Given the description of an element on the screen output the (x, y) to click on. 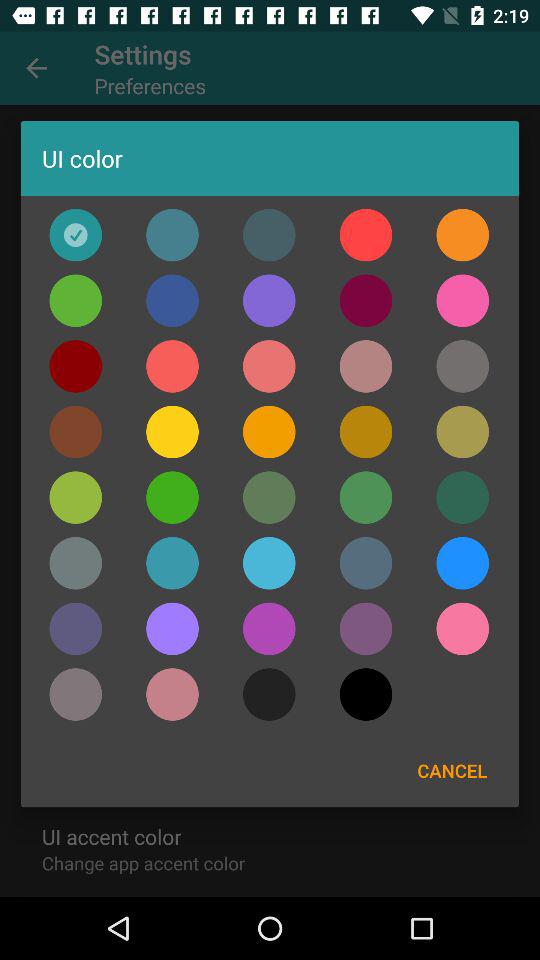
select dark green ui color (462, 497)
